Given the description of an element on the screen output the (x, y) to click on. 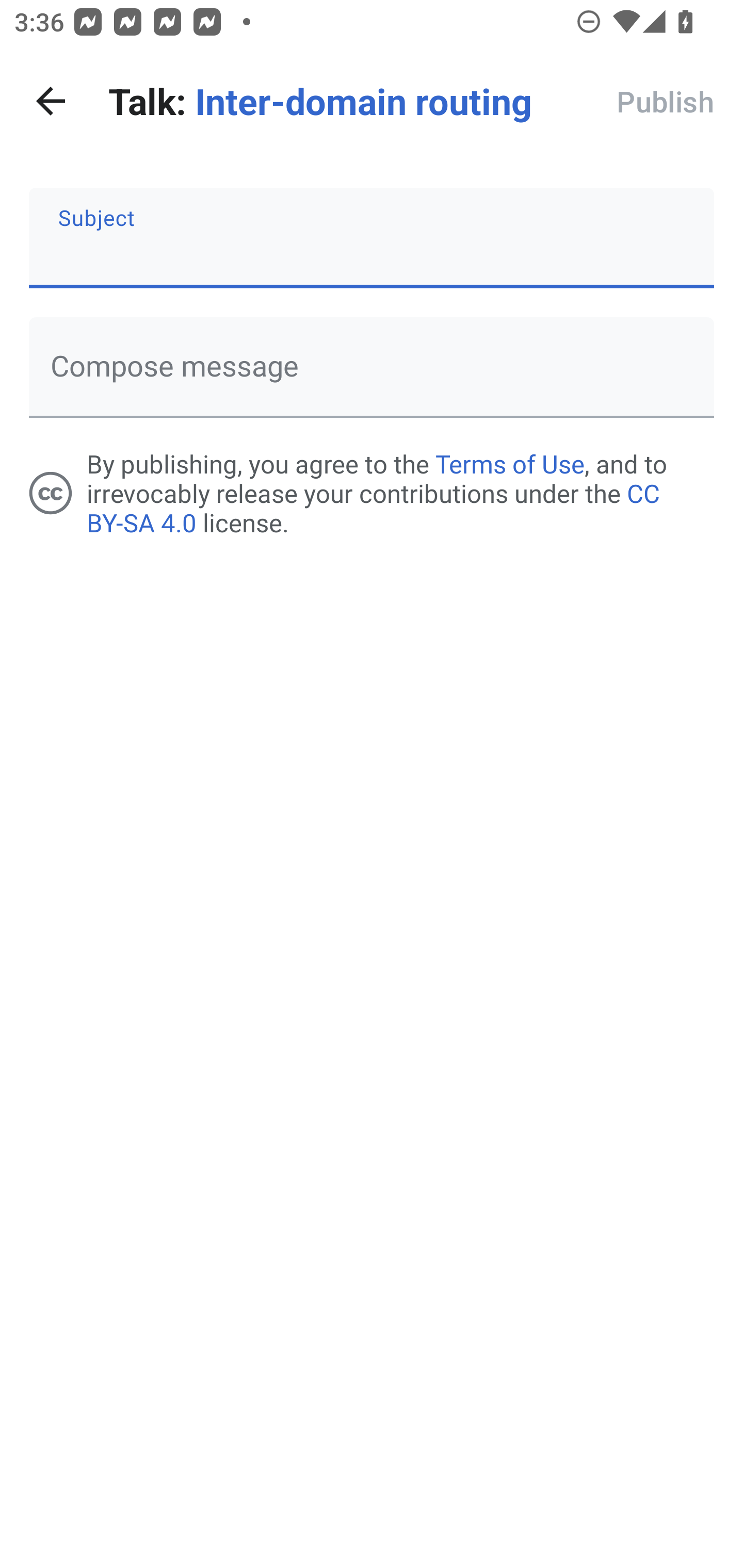
Navigate up (50, 101)
Publish Talk: Inter-domain routing (665, 101)
Subject (371, 238)
Compose message (371, 366)
